Given the description of an element on the screen output the (x, y) to click on. 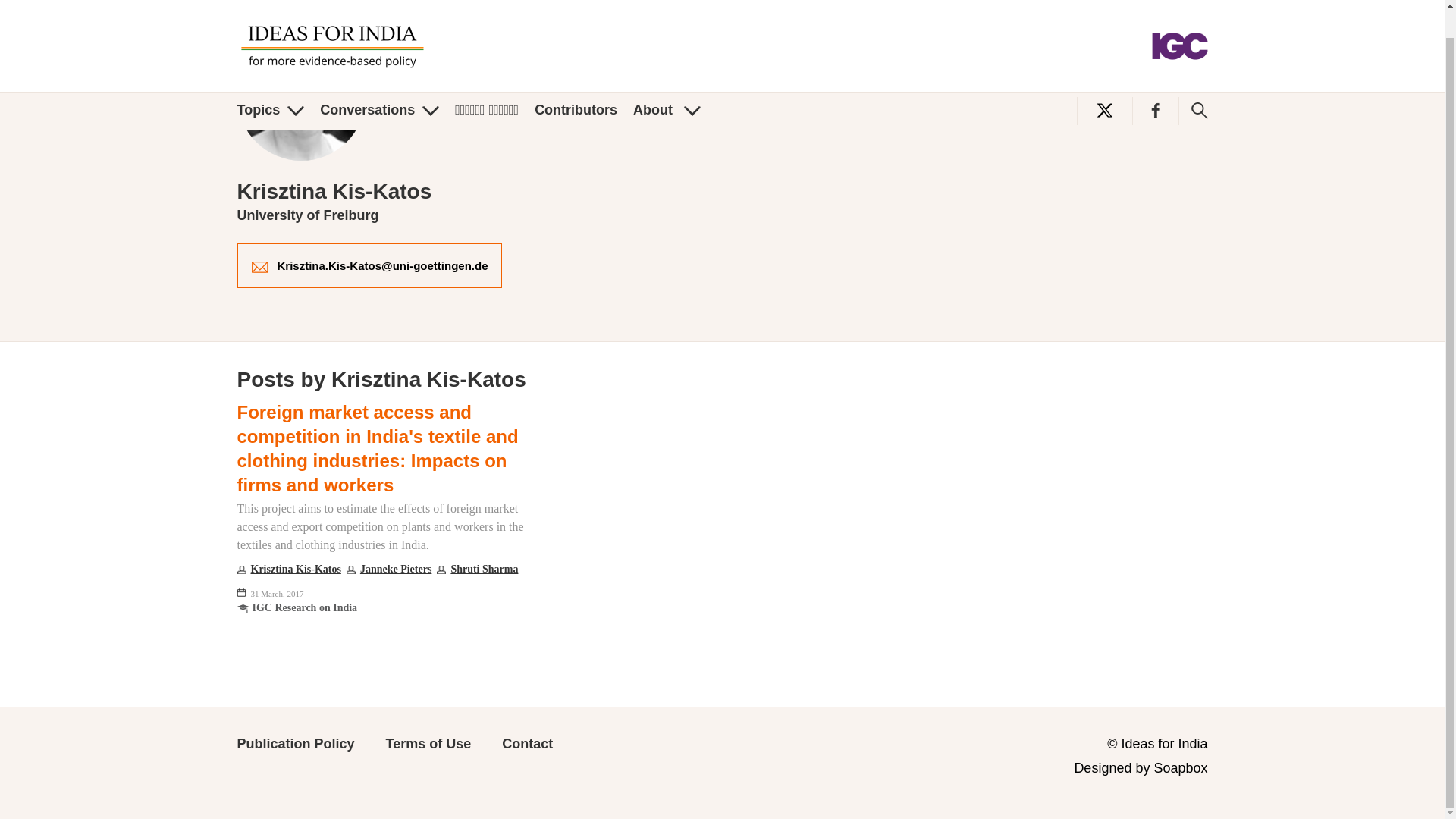
About (666, 81)
Topics (269, 81)
Contact (527, 743)
Krisztina Kis-Katos (287, 572)
Janneke Pieters (388, 572)
Conversations (379, 81)
Publication Policy (294, 743)
Contributors (575, 81)
Terms of Use (428, 743)
